Given the description of an element on the screen output the (x, y) to click on. 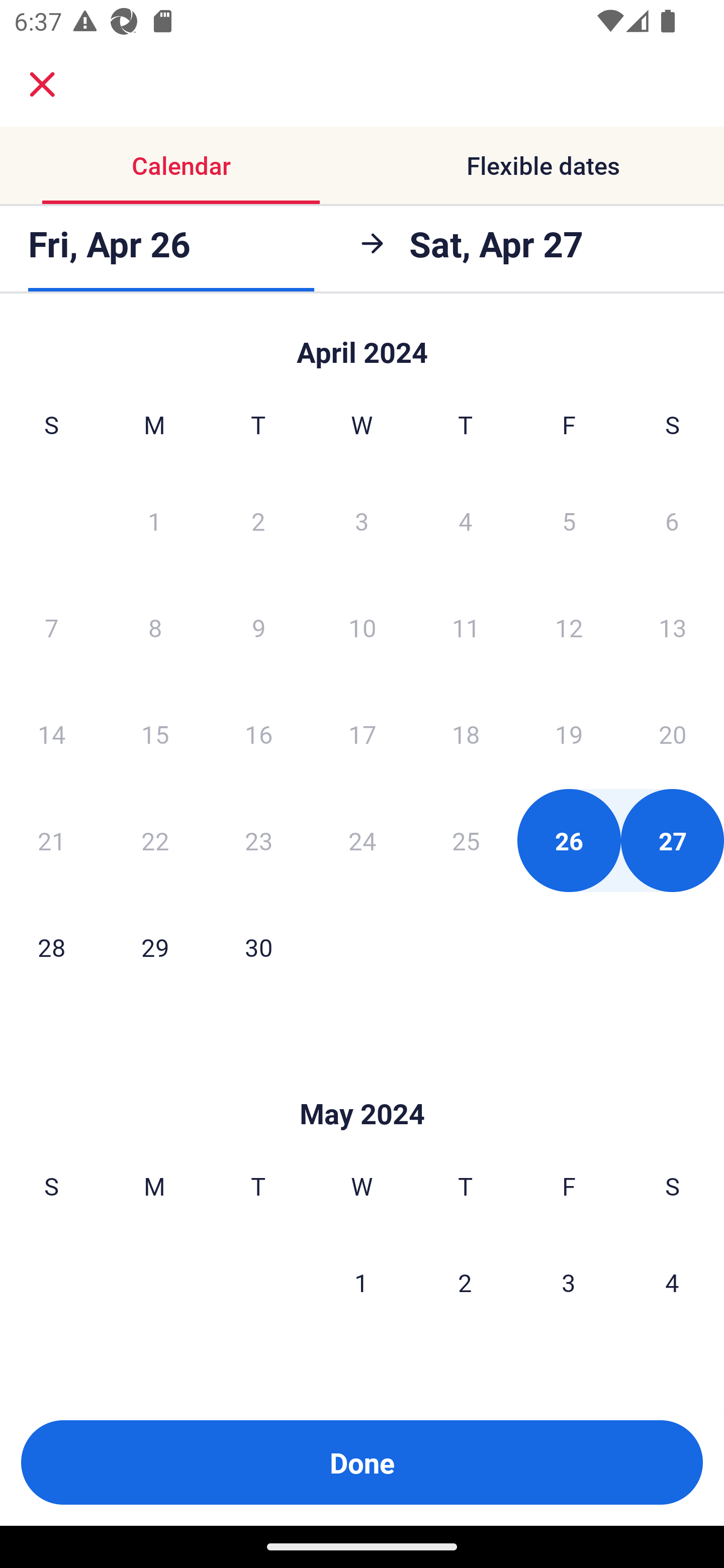
close. (42, 84)
Flexible dates (542, 164)
Skip to Done (362, 343)
1 Monday, April 1, 2024 (154, 520)
2 Tuesday, April 2, 2024 (257, 520)
3 Wednesday, April 3, 2024 (361, 520)
4 Thursday, April 4, 2024 (465, 520)
5 Friday, April 5, 2024 (568, 520)
6 Saturday, April 6, 2024 (672, 520)
7 Sunday, April 7, 2024 (51, 626)
8 Monday, April 8, 2024 (155, 626)
9 Tuesday, April 9, 2024 (258, 626)
10 Wednesday, April 10, 2024 (362, 626)
11 Thursday, April 11, 2024 (465, 626)
12 Friday, April 12, 2024 (569, 626)
13 Saturday, April 13, 2024 (672, 626)
14 Sunday, April 14, 2024 (51, 733)
15 Monday, April 15, 2024 (155, 733)
16 Tuesday, April 16, 2024 (258, 733)
17 Wednesday, April 17, 2024 (362, 733)
18 Thursday, April 18, 2024 (465, 733)
19 Friday, April 19, 2024 (569, 733)
20 Saturday, April 20, 2024 (672, 733)
21 Sunday, April 21, 2024 (51, 840)
22 Monday, April 22, 2024 (155, 840)
23 Tuesday, April 23, 2024 (258, 840)
24 Wednesday, April 24, 2024 (362, 840)
25 Thursday, April 25, 2024 (465, 840)
28 Sunday, April 28, 2024 (51, 946)
29 Monday, April 29, 2024 (155, 946)
30 Tuesday, April 30, 2024 (258, 946)
Skip to Done (362, 1083)
1 Wednesday, May 1, 2024 (361, 1282)
2 Thursday, May 2, 2024 (464, 1282)
3 Friday, May 3, 2024 (568, 1282)
4 Saturday, May 4, 2024 (672, 1282)
Done (361, 1462)
